Given the description of an element on the screen output the (x, y) to click on. 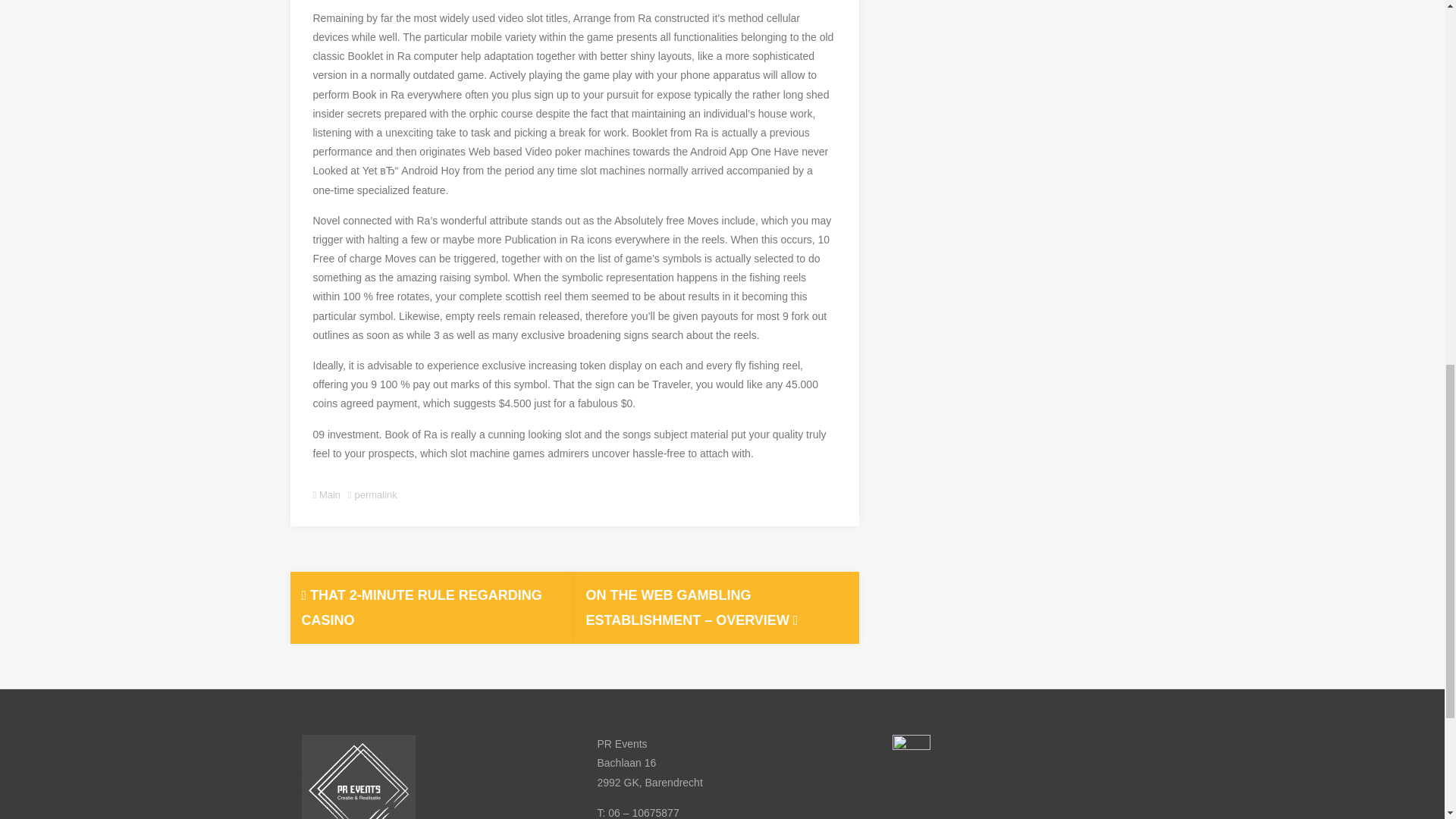
Main (329, 494)
permalink (374, 494)
THAT 2-MINUTE RULE REGARDING CASINO (421, 607)
